Given the description of an element on the screen output the (x, y) to click on. 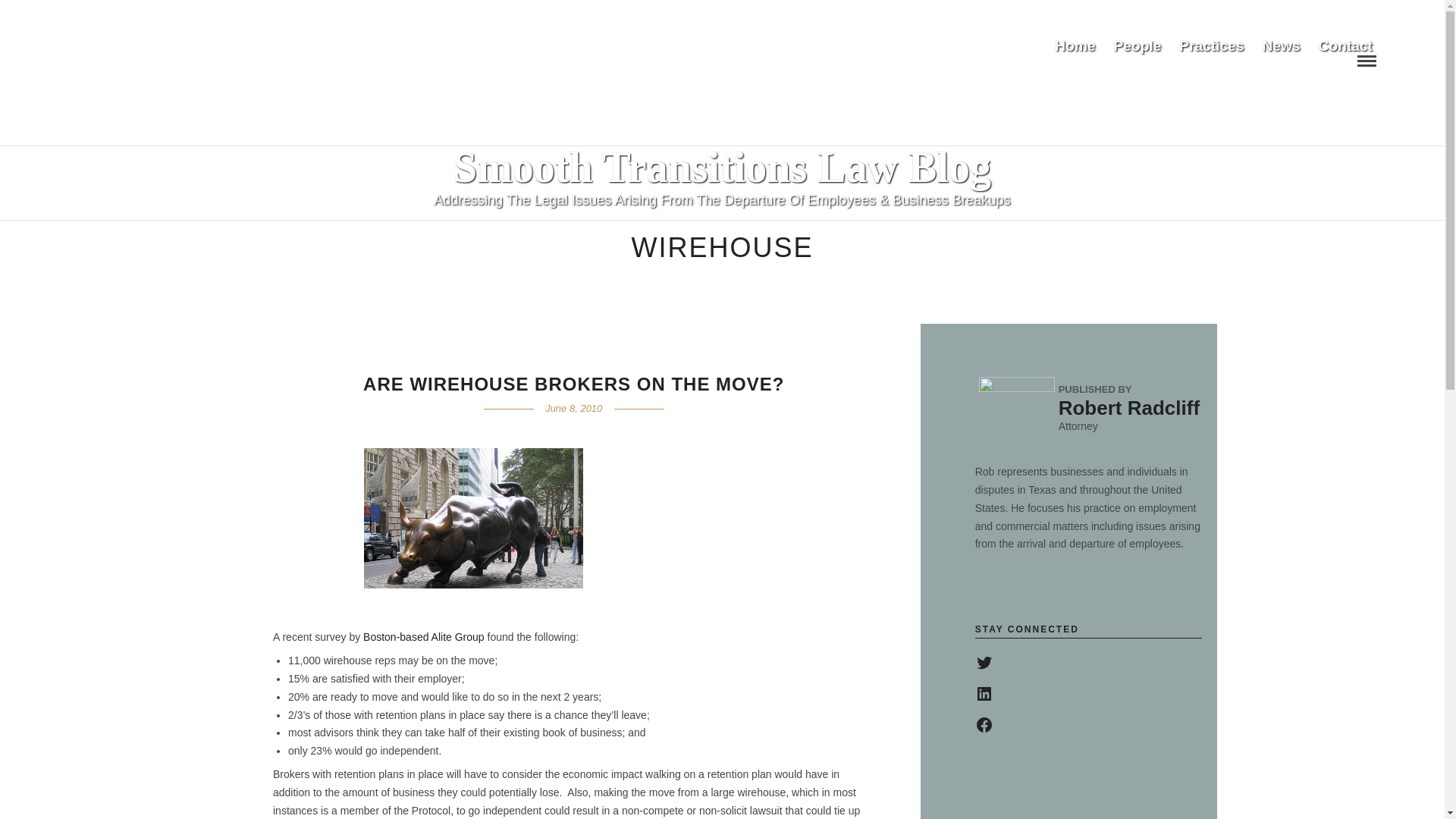
Are wirehouse brokers on the move? (573, 383)
